Given the description of an element on the screen output the (x, y) to click on. 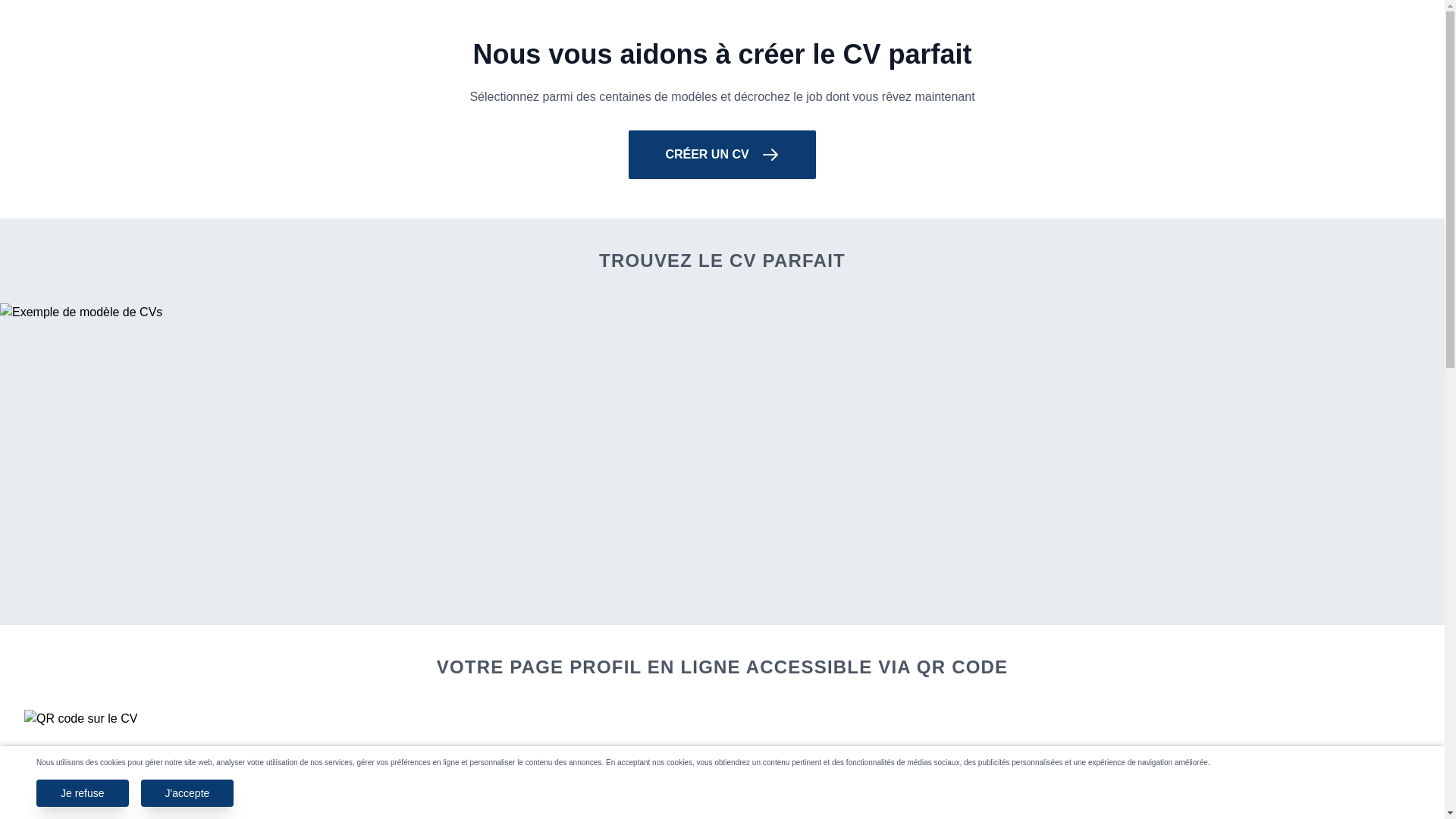
J'accepte (187, 792)
Je refuse (82, 792)
